Given the description of an element on the screen output the (x, y) to click on. 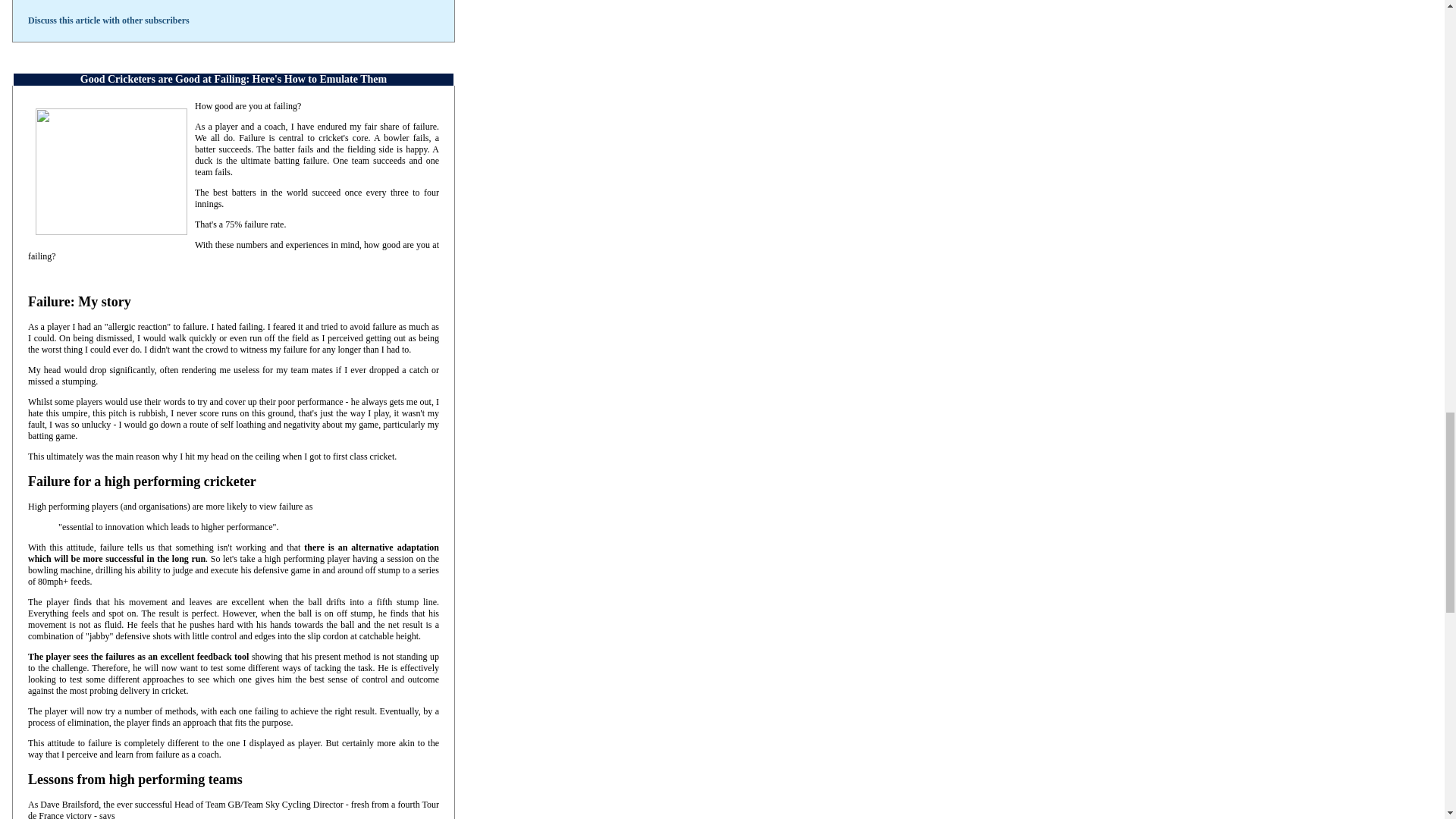
Discuss this article with other subscribers (108, 20)
